Given the description of an element on the screen output the (x, y) to click on. 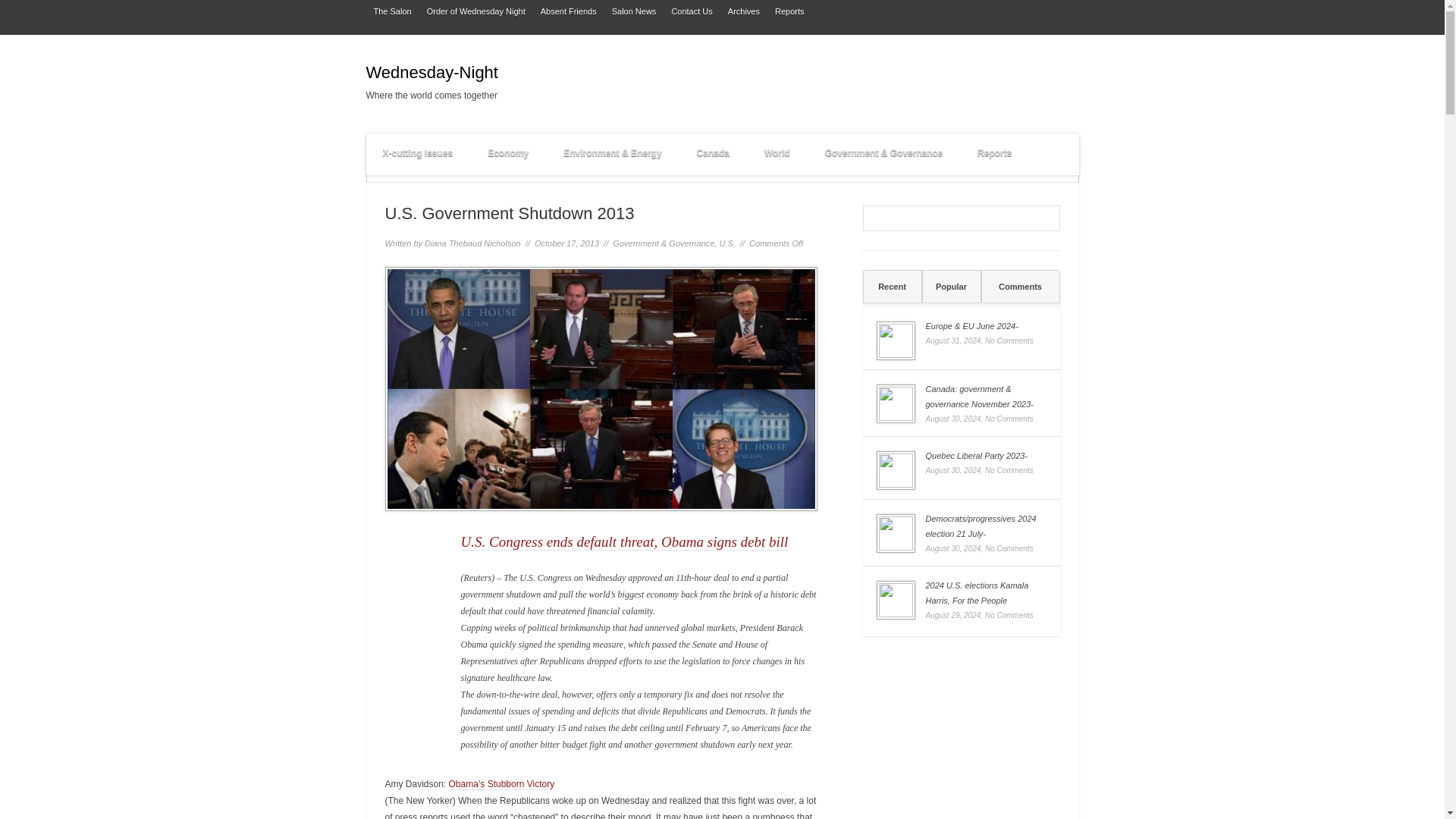
Salon News (633, 11)
Posts by Diana Thebaud Nicholson (473, 243)
Economy (507, 154)
Order of Wednesday Night (475, 11)
Wednesday-Night (509, 76)
X-cutting Issues (416, 154)
Reports (789, 11)
Absent Friends (568, 11)
Contact Us (691, 11)
The Salon (392, 11)
